Given the description of an element on the screen output the (x, y) to click on. 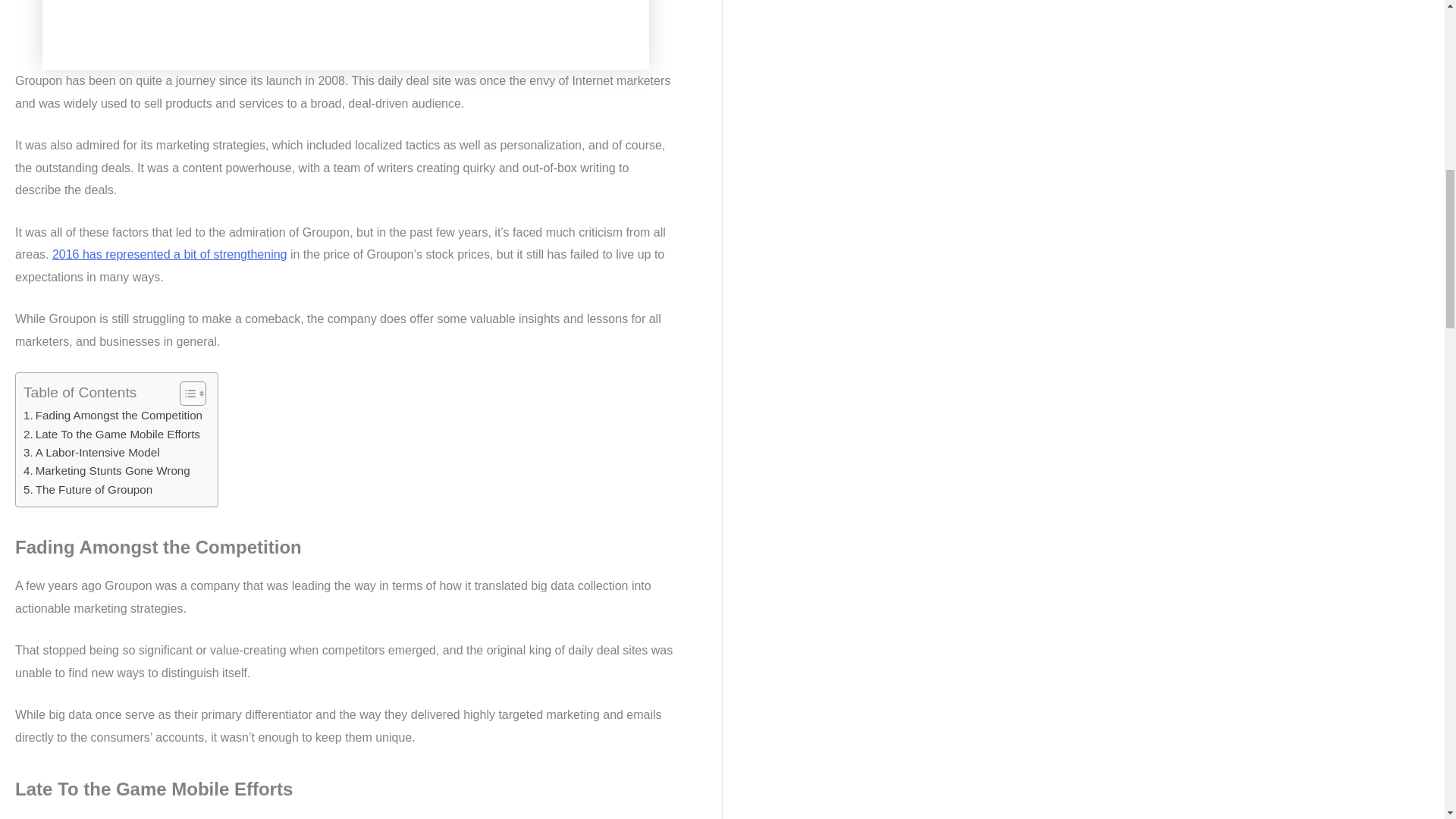
Late To the Game Mobile Efforts (111, 434)
2016 has represented a bit of strengthening (169, 254)
Marketing Stunts Gone Wrong (106, 470)
A Labor-Intensive Model (91, 452)
Fading Amongst the Competition (112, 415)
The Future of Groupon (87, 489)
The Future of Groupon (87, 489)
Fading Amongst the Competition (112, 415)
A Labor-Intensive Model (91, 452)
Marketing Stunts Gone Wrong (106, 470)
